Given the description of an element on the screen output the (x, y) to click on. 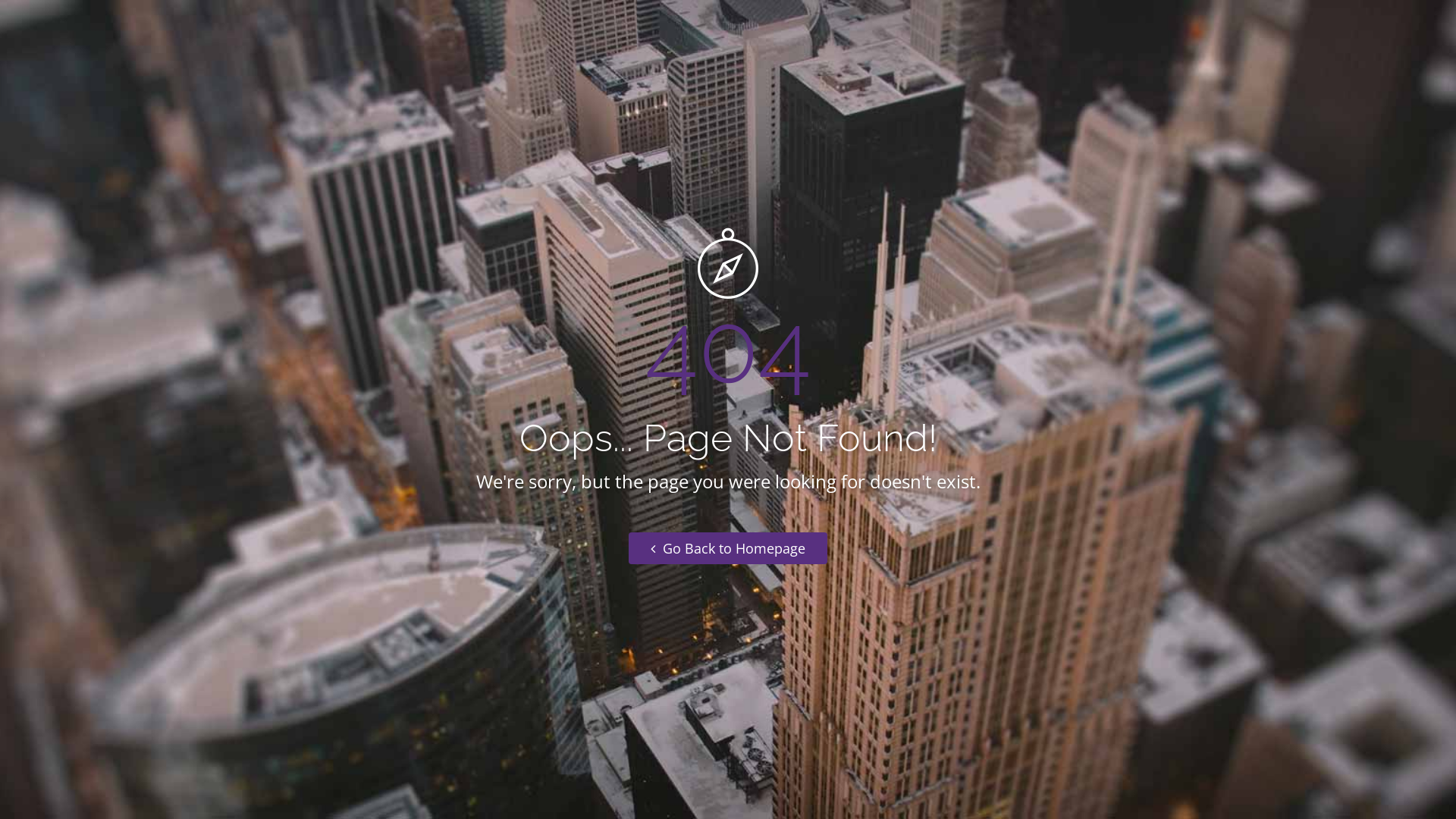
Go Back to Homepage Element type: text (727, 548)
